Given the description of an element on the screen output the (x, y) to click on. 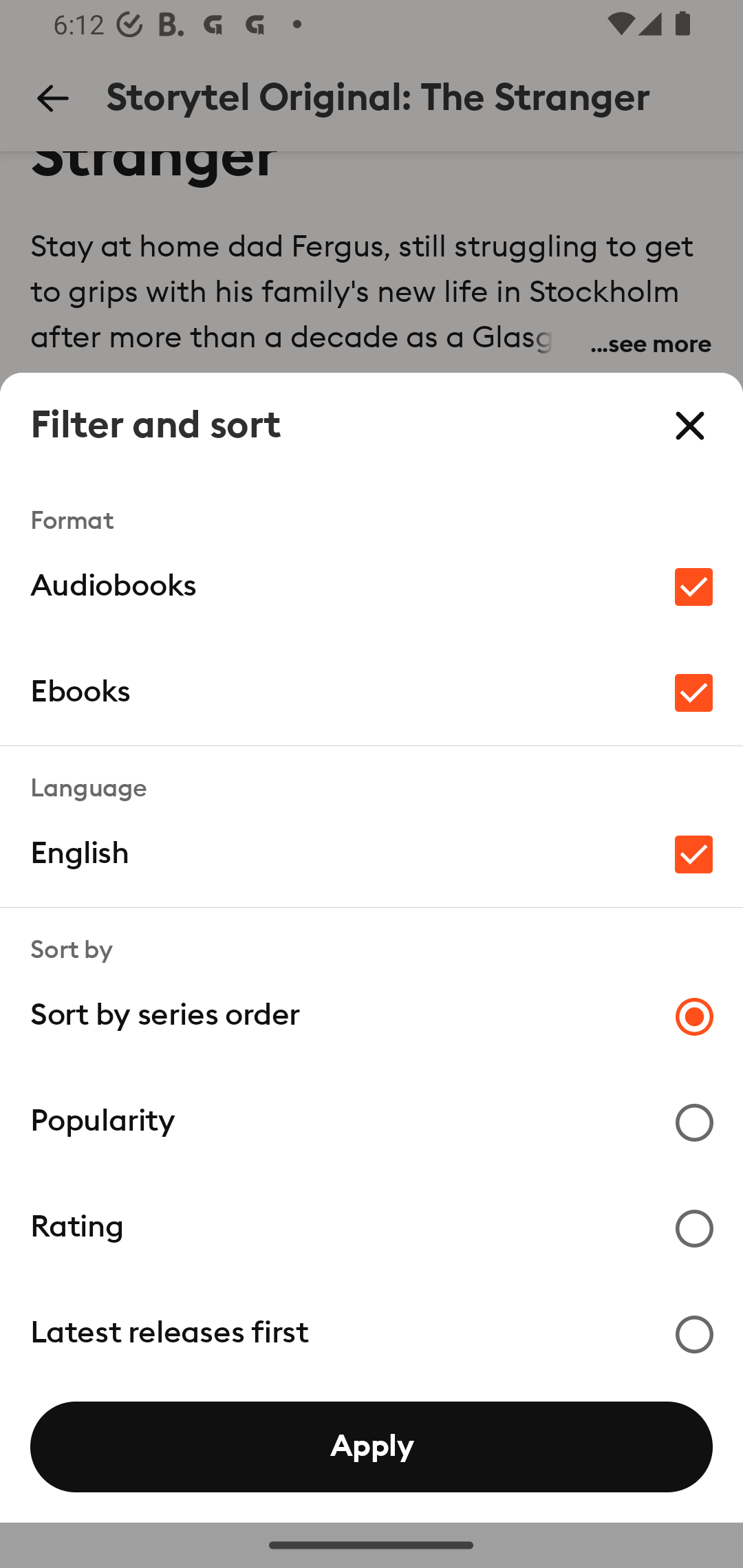
English (371, 854)
Sort by series order (371, 1015)
Popularity (371, 1121)
Rating (371, 1227)
Latest releases first (371, 1333)
Apply (371, 1446)
